Given the description of an element on the screen output the (x, y) to click on. 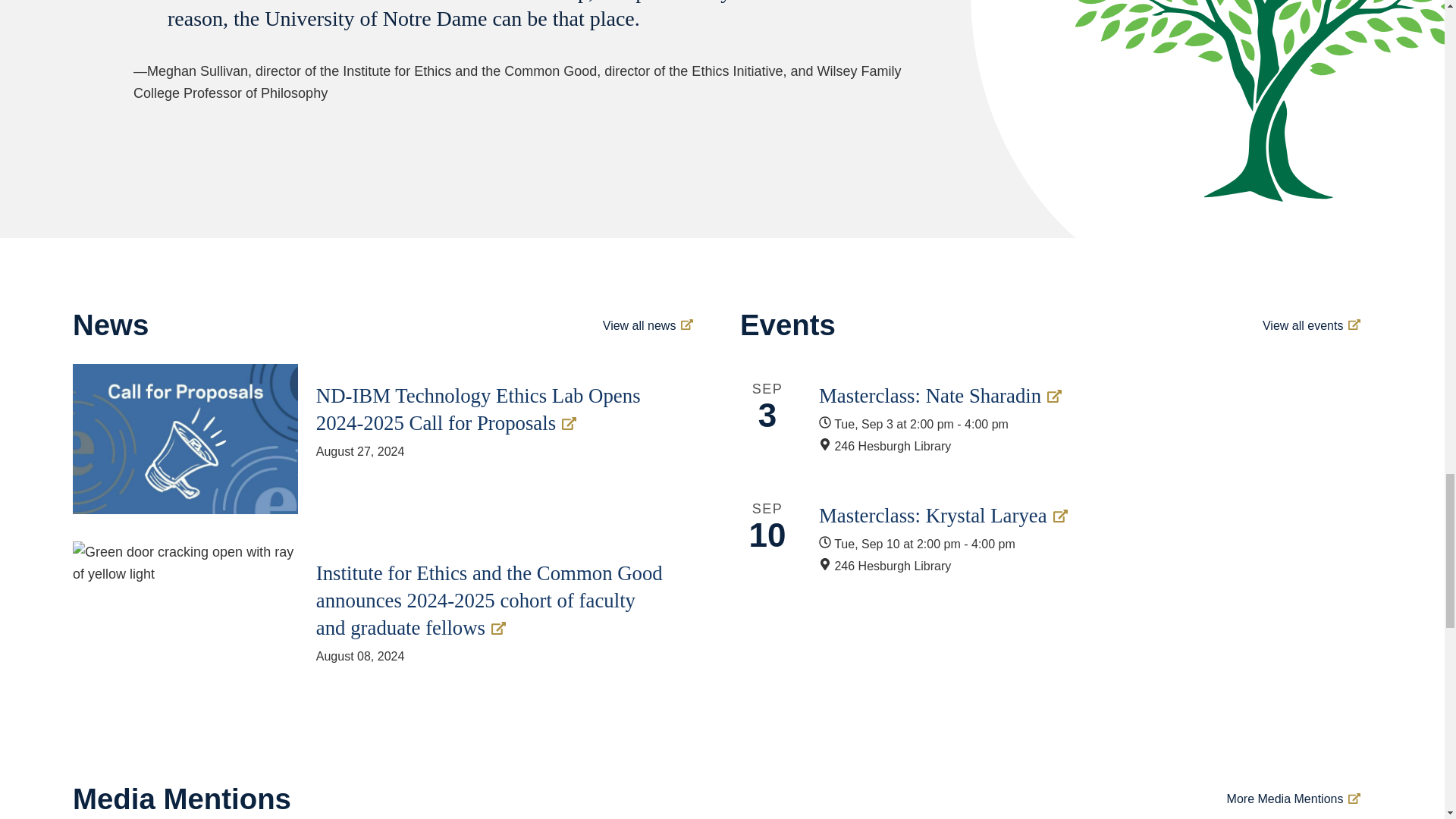
View all news (647, 325)
Tue Sep  3, 2024  2:00 pm -  4:00 pm (1070, 424)
Masterclass: Krystal Laryea (1076, 515)
Tue Sep 10, 2024  2:00 pm -  4:00 pm (1070, 544)
Masterclass: Nate Sharadin (1076, 395)
View all events (1310, 325)
